Given the description of an element on the screen output the (x, y) to click on. 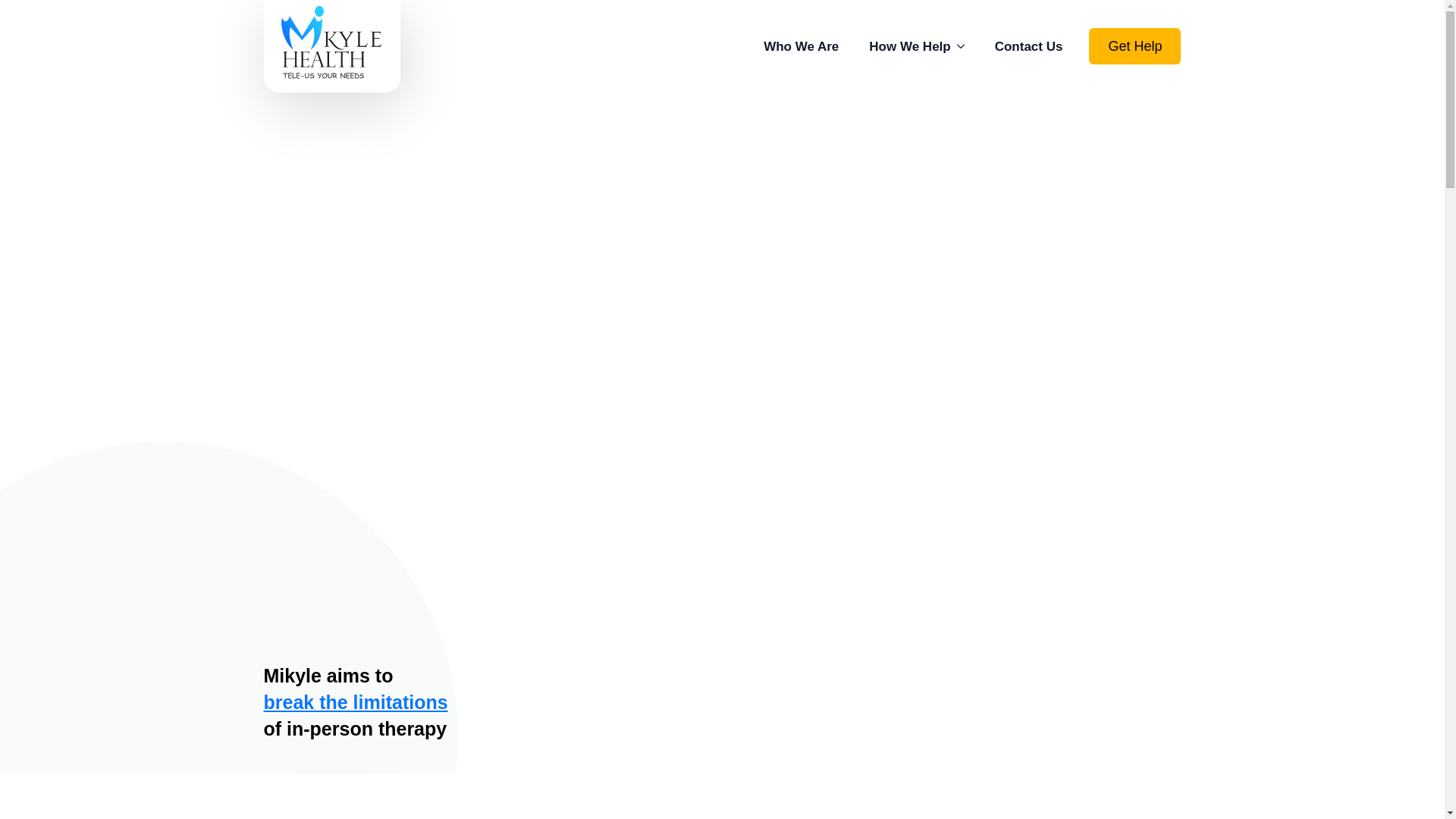
Contact Us (1028, 46)
Get Help (1134, 45)
How We Help (915, 46)
Who We Are (800, 46)
break the limitations (355, 701)
